Given the description of an element on the screen output the (x, y) to click on. 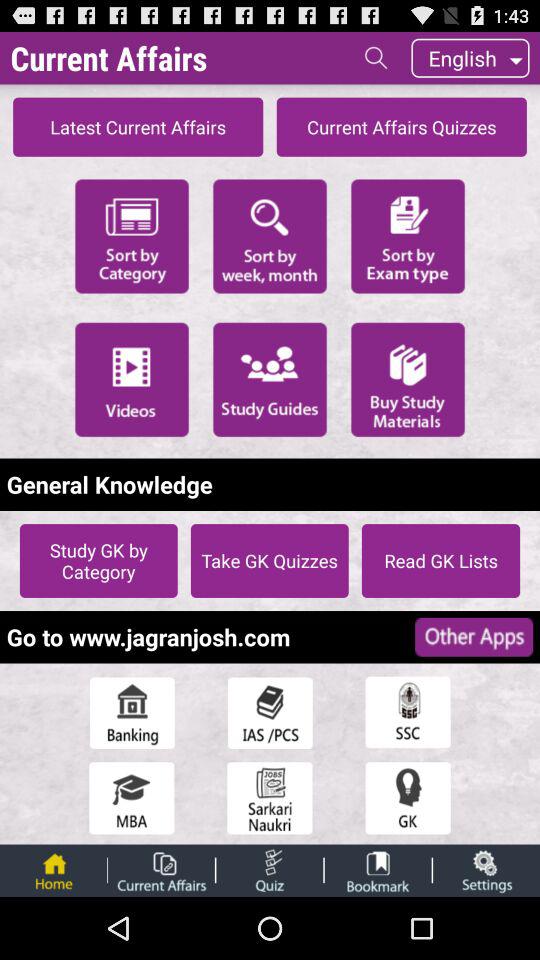
take a quiz (269, 870)
